Given the description of an element on the screen output the (x, y) to click on. 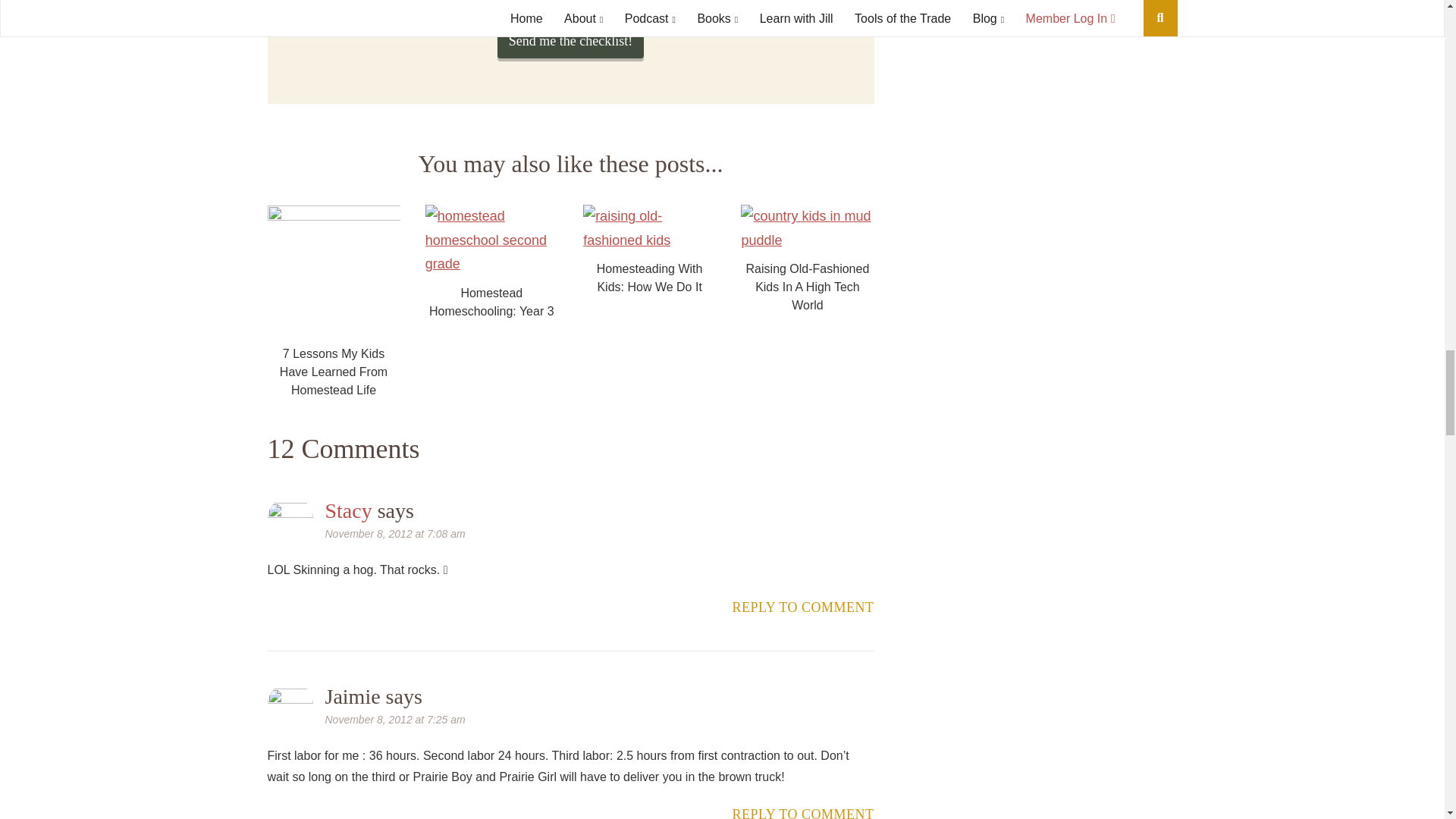
Send me the checklist! (570, 41)
Stacy (347, 510)
REPLY TO COMMENT (803, 607)
November 8, 2012 at 7:08 am (394, 533)
